Given the description of an element on the screen output the (x, y) to click on. 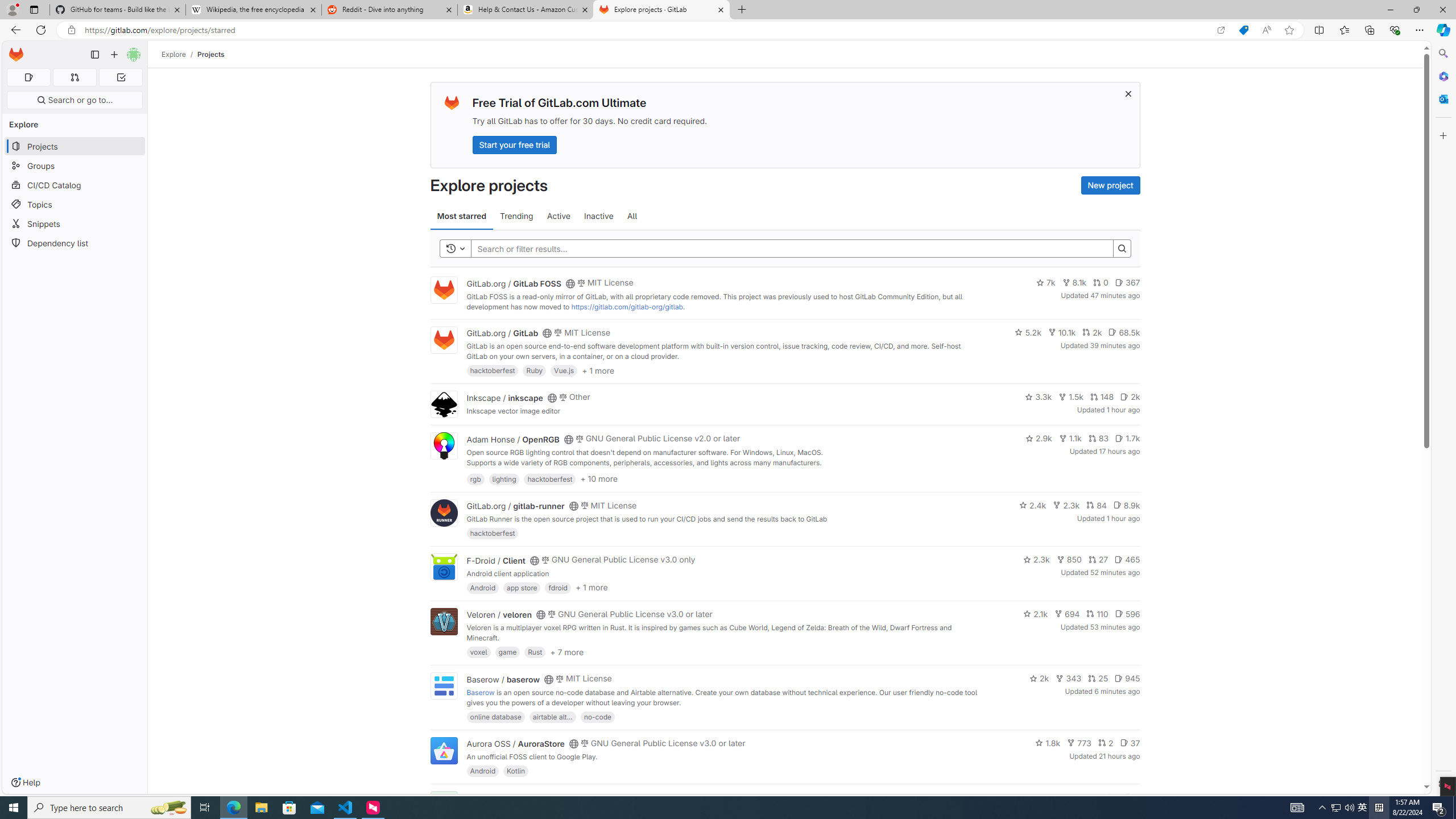
2.3k (1035, 559)
Help & Contact Us - Amazon Customer Service (525, 9)
1.5k (1070, 396)
Explore/ (179, 53)
1.1k (1069, 438)
Skip to main content (13, 49)
84 (1096, 504)
Rust (535, 651)
Most starred (461, 216)
465 (1127, 559)
New project (1110, 185)
CI/CD Catalog (74, 185)
online database (495, 715)
